Given the description of an element on the screen output the (x, y) to click on. 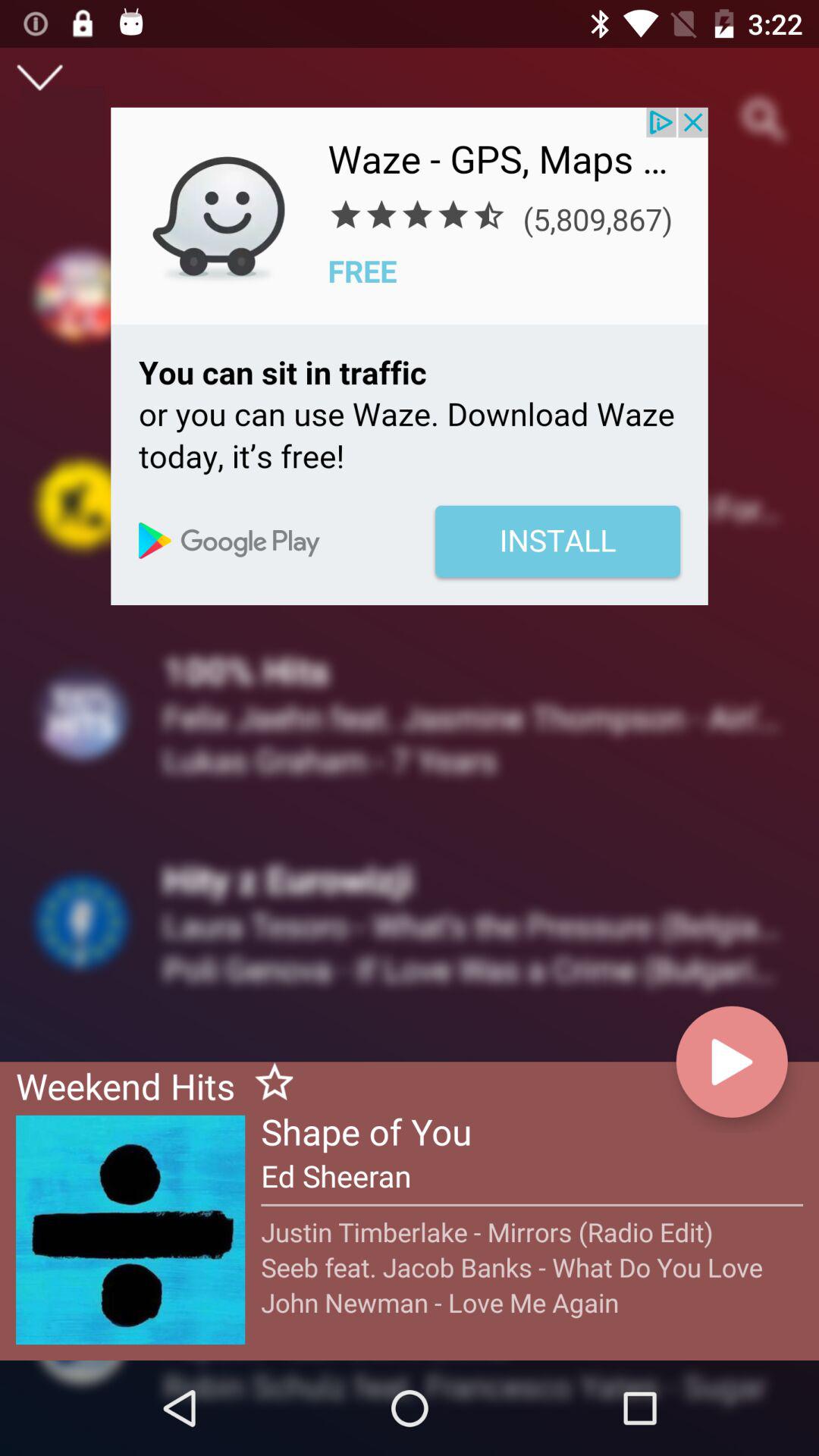
down arrow (39, 77)
